Given the description of an element on the screen output the (x, y) to click on. 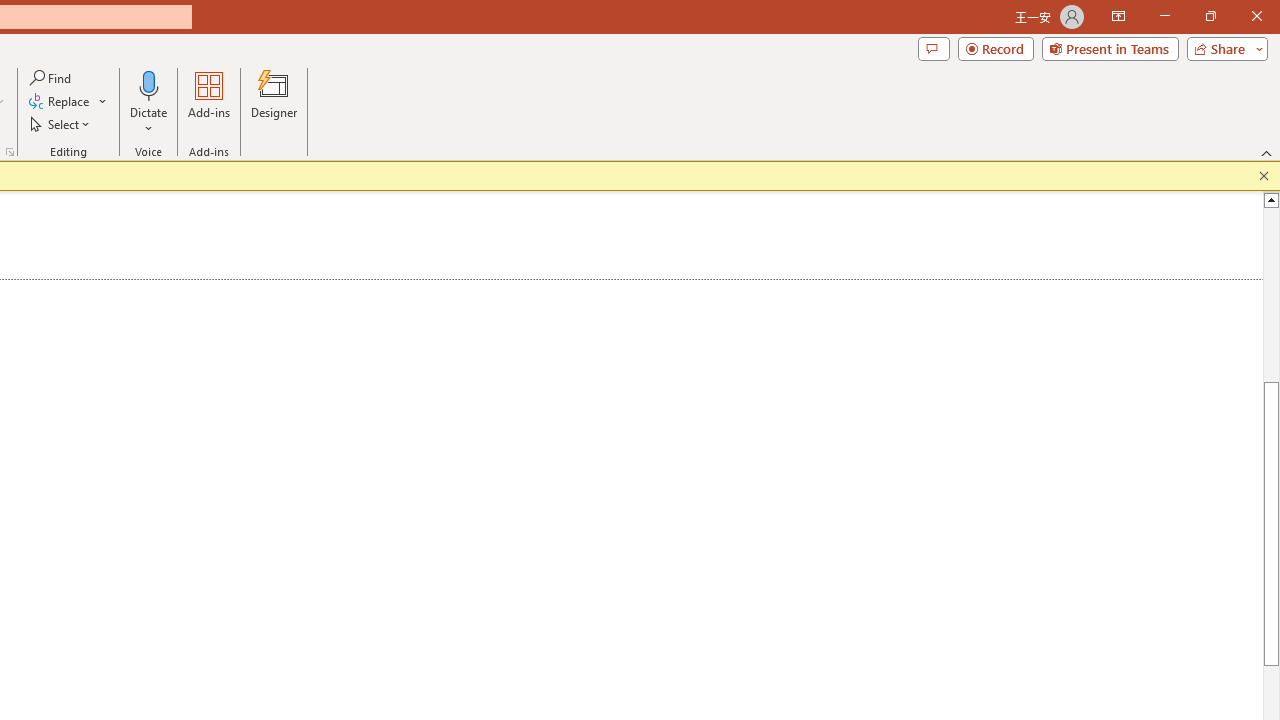
Designer (274, 102)
Dictate (149, 102)
Replace... (60, 101)
